Given the description of an element on the screen output the (x, y) to click on. 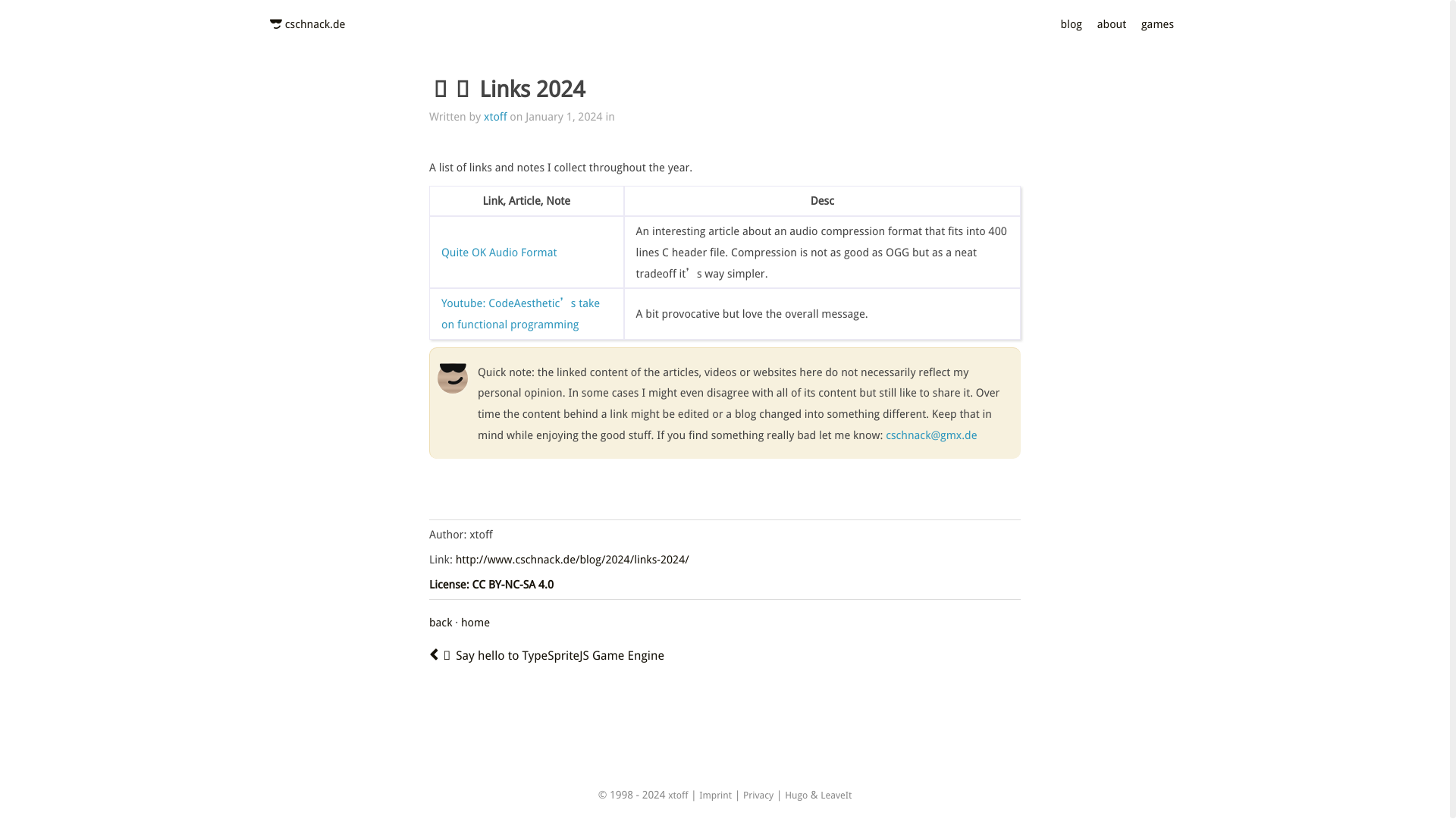
games (1157, 23)
Hugo (796, 794)
home (475, 621)
Quite OK Audio Format (499, 251)
Imprint (715, 794)
Privacy (757, 794)
xtoff (494, 115)
xtoff (677, 794)
License: CC BY-NC-SA 4.0 (491, 584)
cschnack.de (315, 23)
about (1111, 23)
back (440, 621)
blog (1070, 23)
LeaveIt (836, 794)
